Given the description of an element on the screen output the (x, y) to click on. 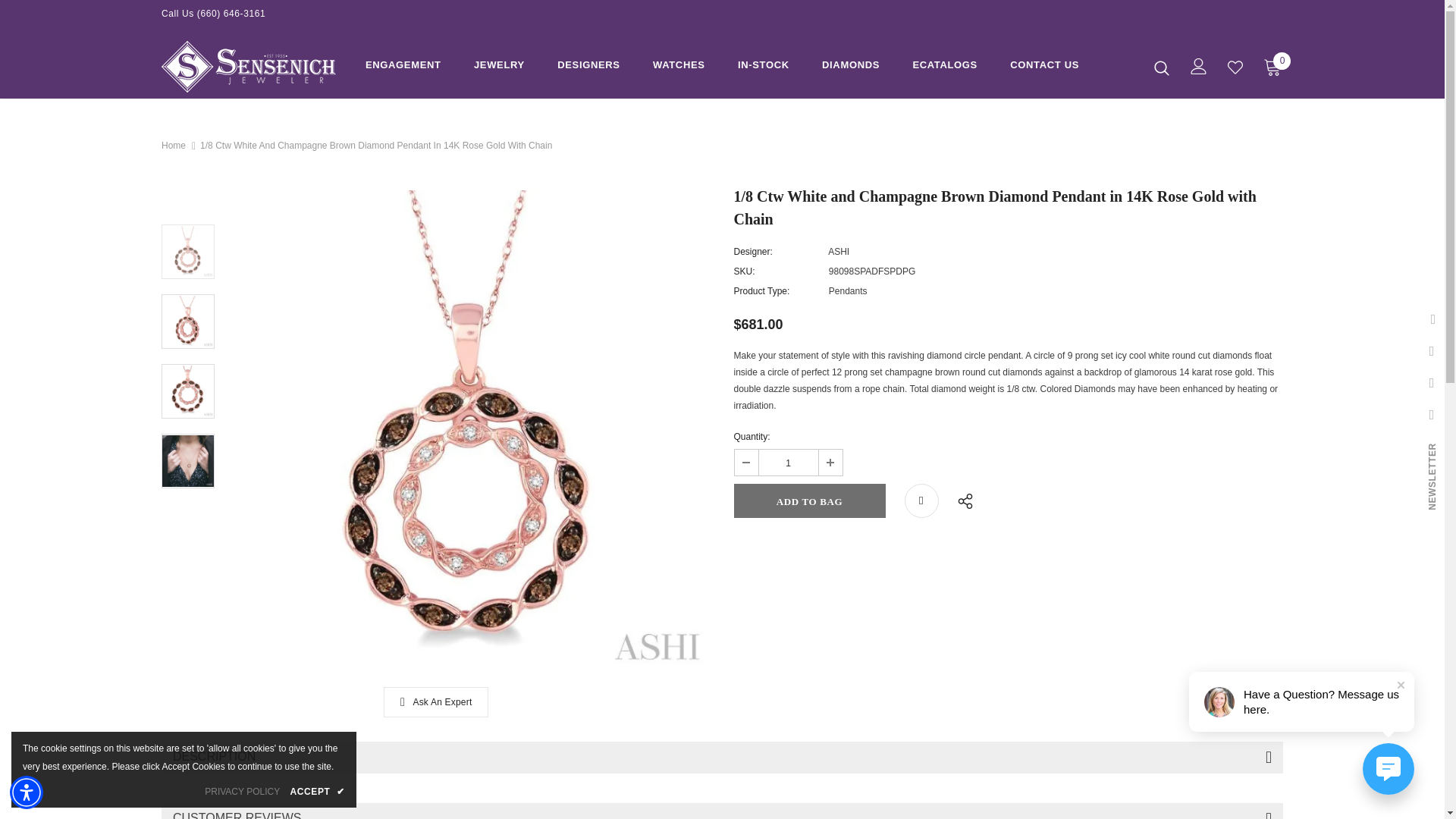
ECATALOGS (944, 67)
DIAMONDS (850, 67)
1 (787, 462)
WATCHES (678, 67)
Accessibility Menu (26, 792)
DESIGNERS (588, 67)
JEWELRY (499, 67)
Add to Bag (809, 500)
CONTACT US (1044, 67)
ENGAGEMENT (403, 67)
IN-STOCK (763, 67)
